Given the description of an element on the screen output the (x, y) to click on. 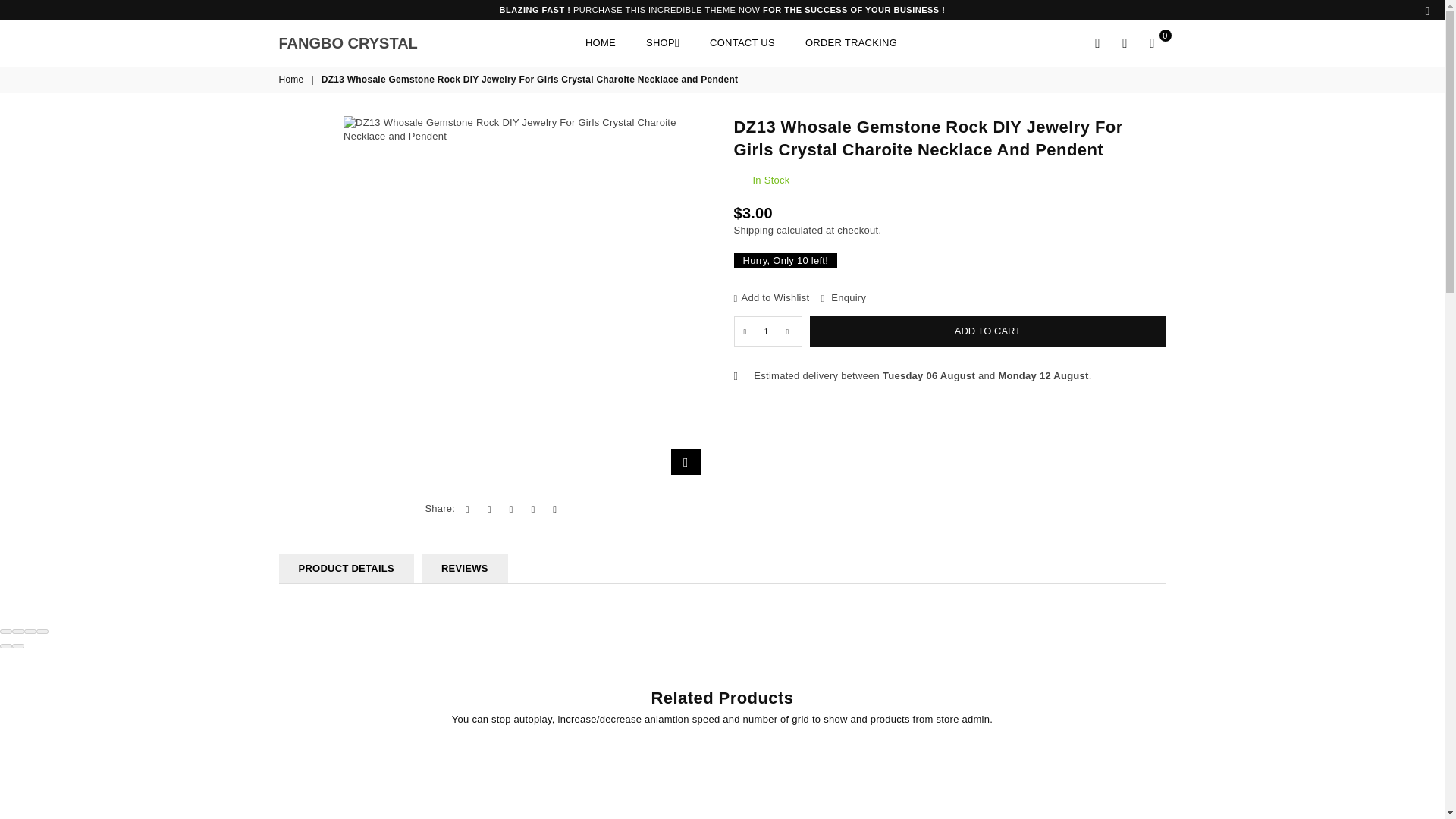
Quantity (767, 331)
Home (292, 79)
Toggle fullscreen (30, 631)
CONTACT US (742, 43)
SHOP (662, 43)
0 (1152, 42)
ORDER TRACKING (365, 43)
Search (850, 43)
HOME (1098, 42)
Wishlist (600, 43)
Back to the home page (1125, 42)
Cart (292, 79)
Share (1152, 42)
